Given the description of an element on the screen output the (x, y) to click on. 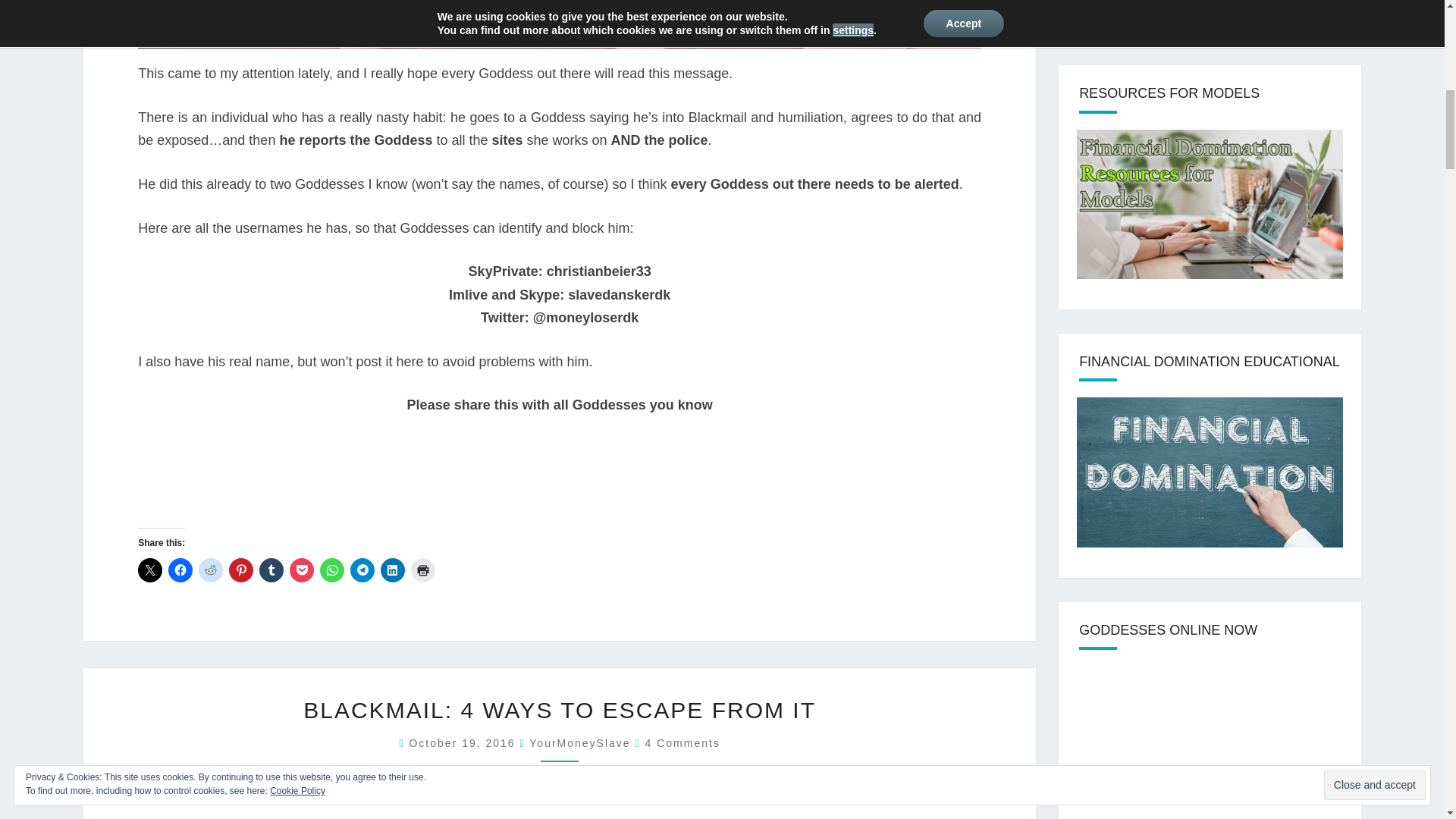
Click to share on Tumblr (271, 569)
Click to share on Facebook (180, 569)
Click to share on LinkedIn (392, 569)
Click to share on Telegram (362, 569)
BLACKMAIL: 4 WAYS TO ESCAPE FROM IT (558, 709)
3:37 pm (464, 743)
Click to share on Pocket (301, 569)
View all posts by YourMoneySlave (579, 743)
YourMoneySlave (579, 743)
Click to share on WhatsApp (331, 569)
Click to share on Pinterest (240, 569)
Click to share on Reddit (210, 569)
Click to share on X (149, 569)
4 Comments (682, 743)
October 19, 2016 (464, 743)
